Given the description of an element on the screen output the (x, y) to click on. 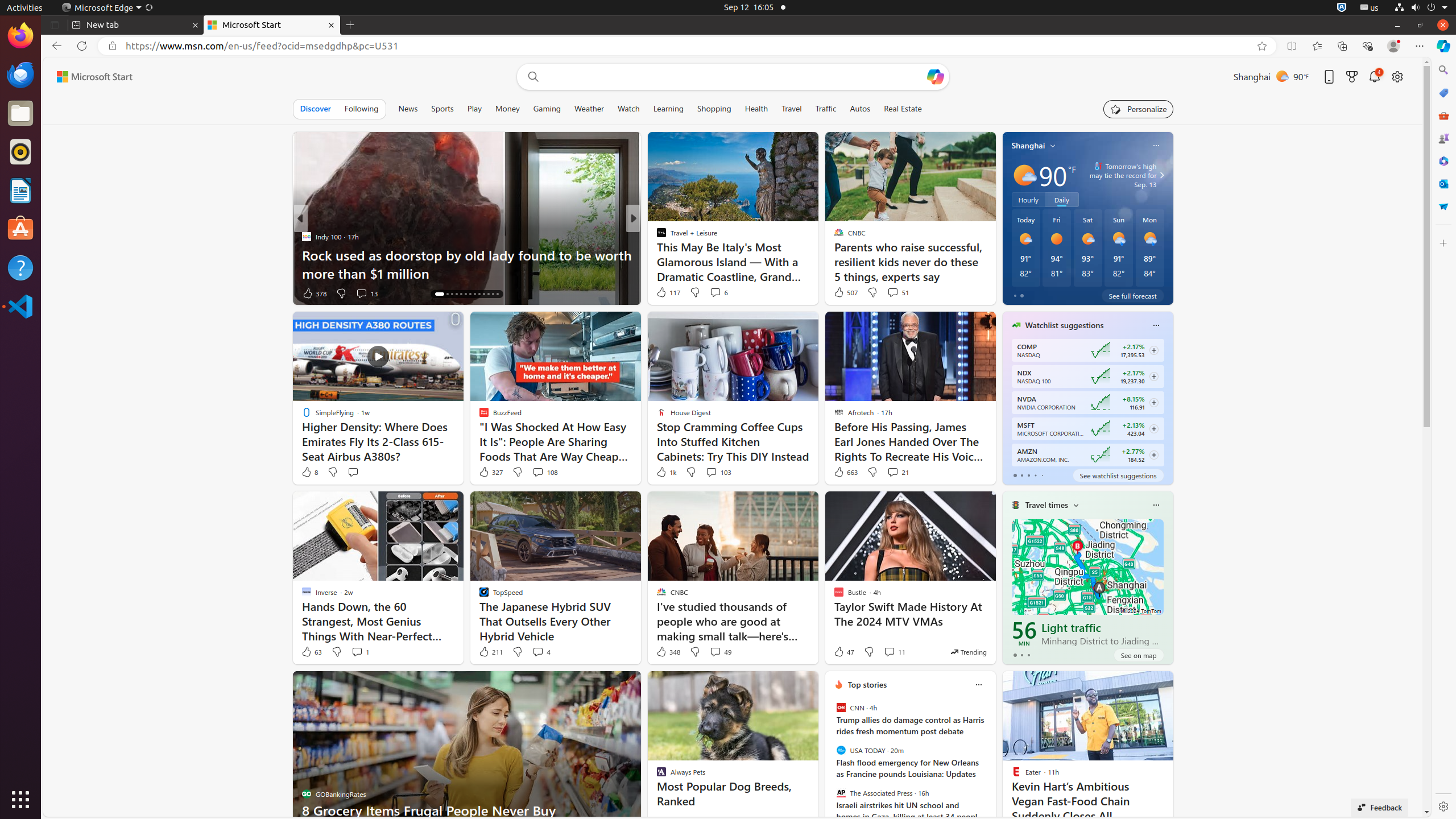
Copilot (Ctrl+Shift+.) Element type: push-button (1443, 45)
663 Like Element type: toggle-button (845, 472)
See on map Element type: link (1138, 655)
63 Like Element type: toggle-button (310, 651)
378 Like Element type: toggle-button (313, 292)
